Given the description of an element on the screen output the (x, y) to click on. 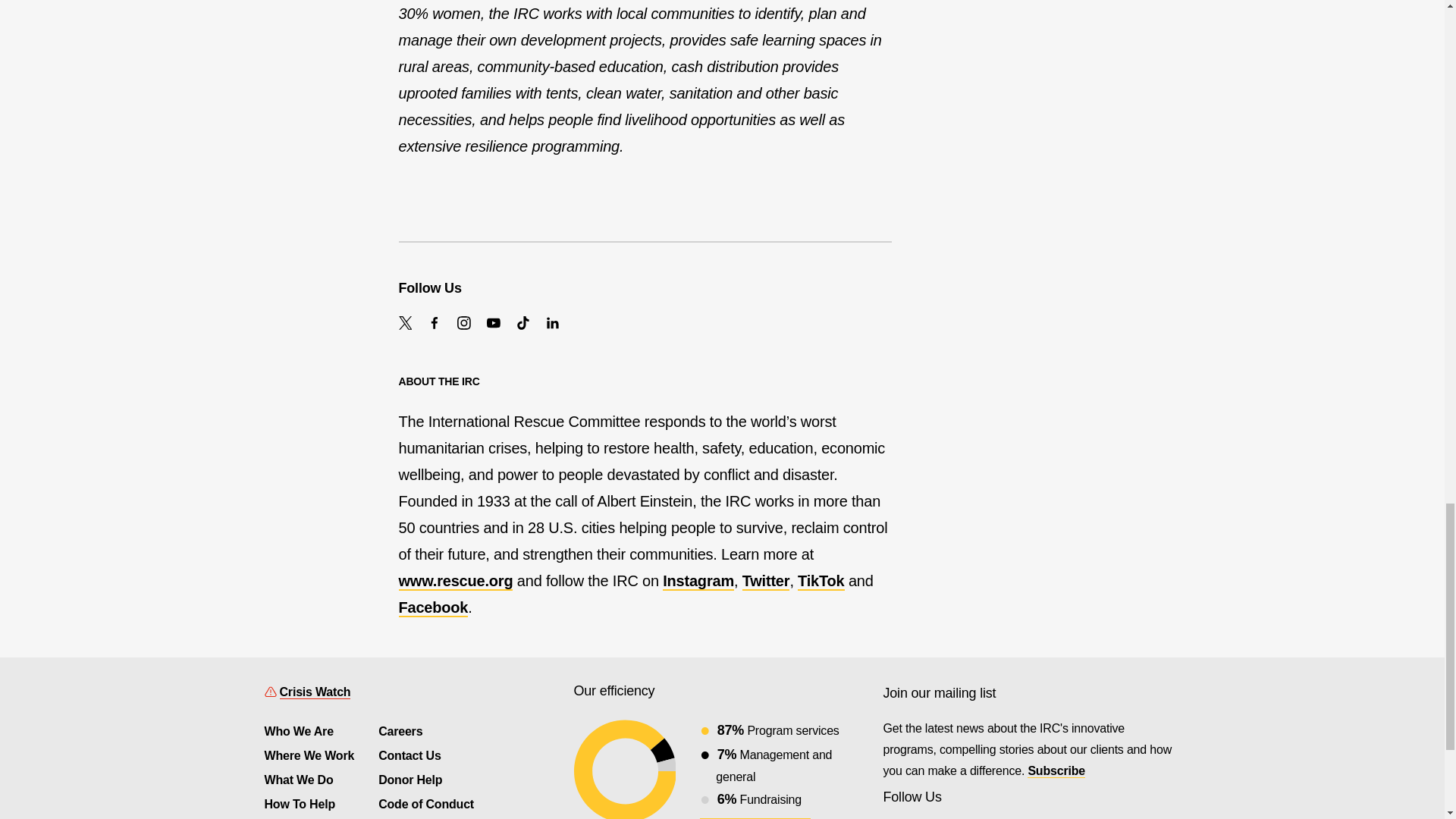
instagram (463, 323)
facebook (434, 323)
twitter (405, 323)
